Given the description of an element on the screen output the (x, y) to click on. 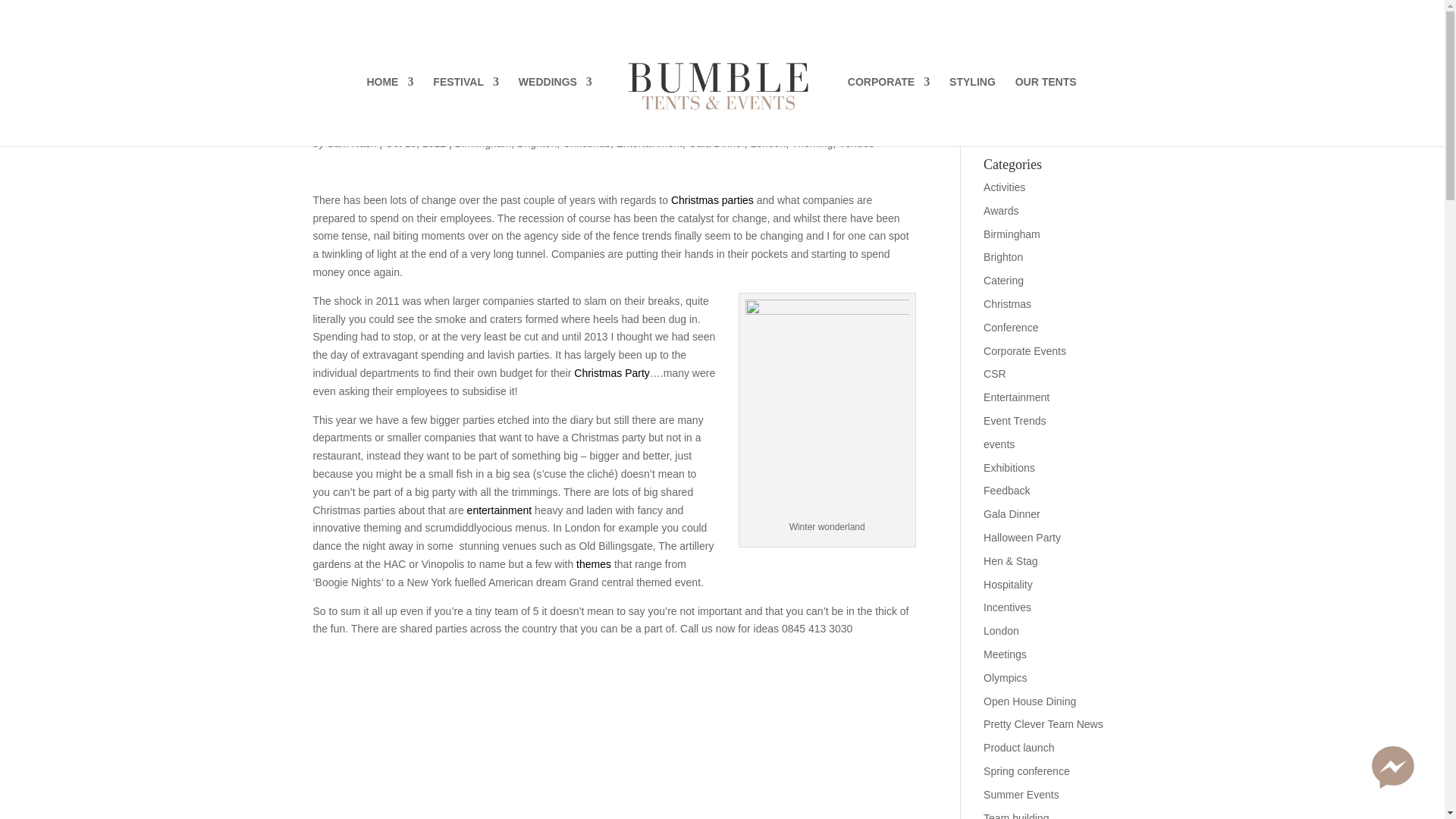
Search (1106, 119)
Posts by Sam Nash (350, 143)
FESTIVAL (465, 111)
Brighton (536, 143)
Birmingham (483, 143)
WEDDINGS (555, 111)
CORPORATE (888, 111)
Sam Nash (350, 143)
